Given the description of an element on the screen output the (x, y) to click on. 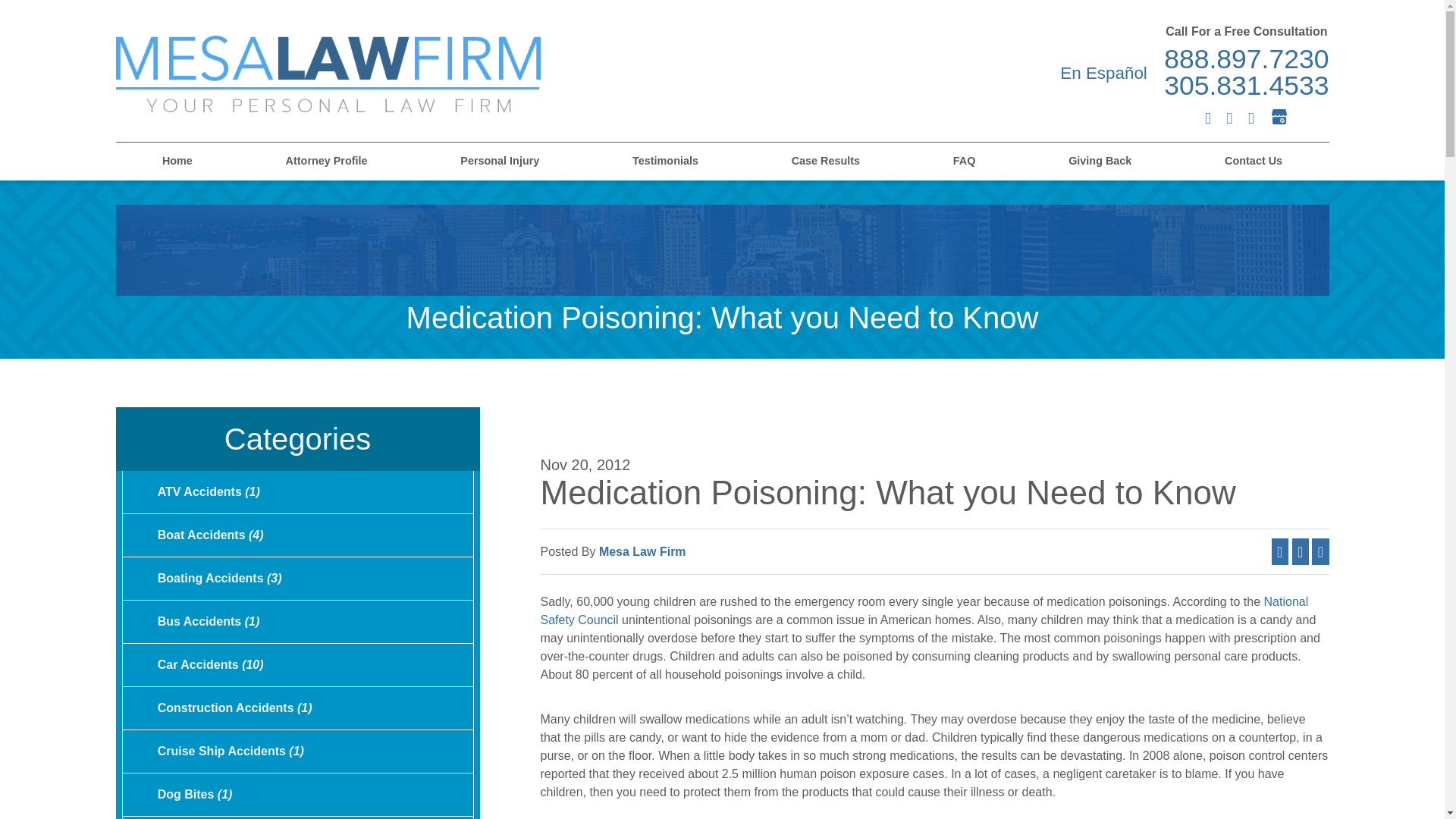
Attorney Profile (325, 161)
Home (176, 161)
Personal Injury (499, 161)
Mesa Law Firm (327, 73)
